Given the description of an element on the screen output the (x, y) to click on. 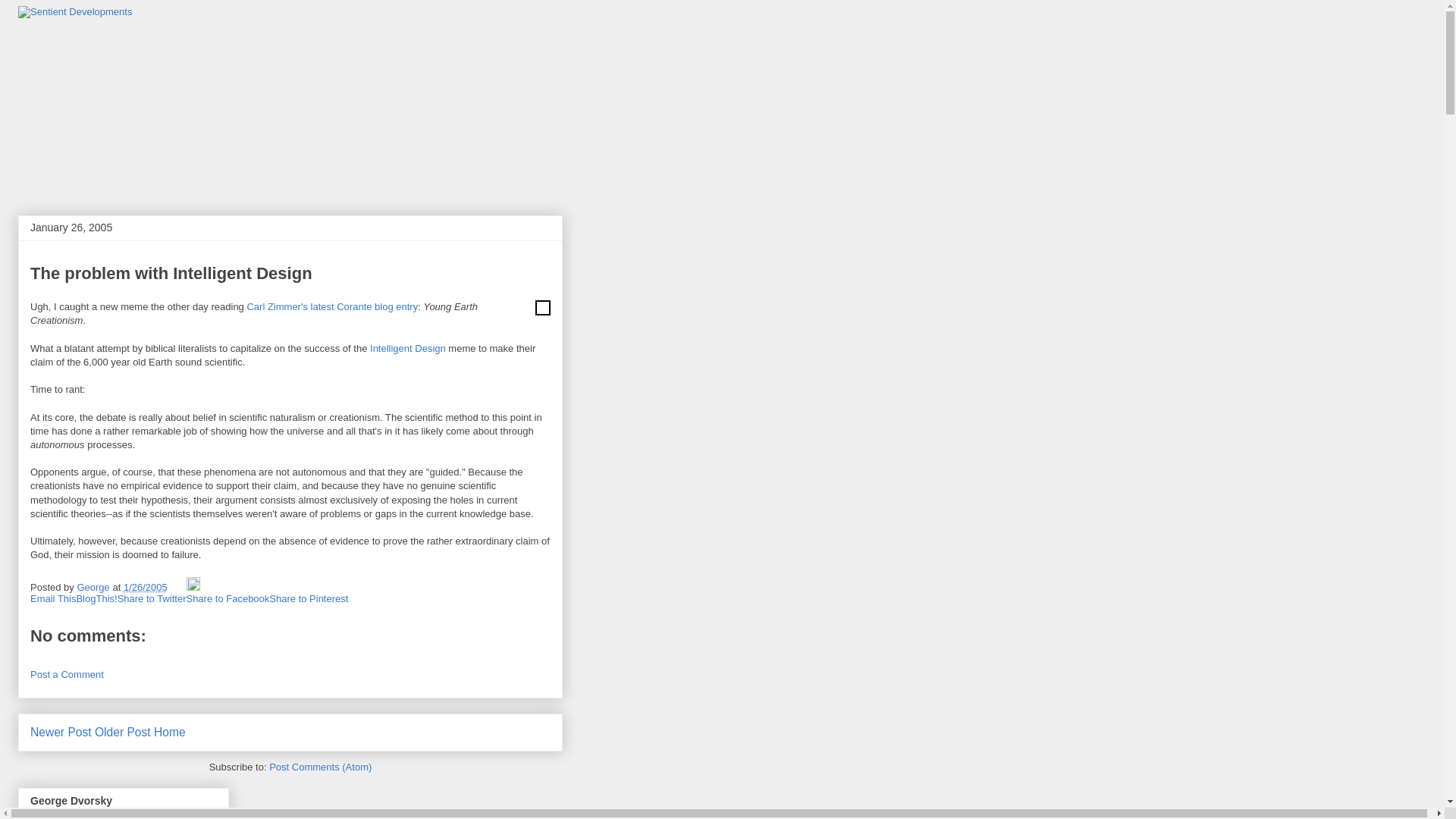
George (94, 586)
Older Post (122, 731)
Email This (52, 598)
Newer Post (60, 731)
Share to Facebook (227, 598)
Home (170, 731)
Share to Pinterest (308, 598)
BlogThis! (95, 598)
Edit Post (193, 586)
Carl Zimmer's latest Corante blog entry (331, 306)
Share to Pinterest (308, 598)
BlogThis! (95, 598)
Share to Facebook (227, 598)
Newer Post (60, 731)
Share to Twitter (151, 598)
